Given the description of an element on the screen output the (x, y) to click on. 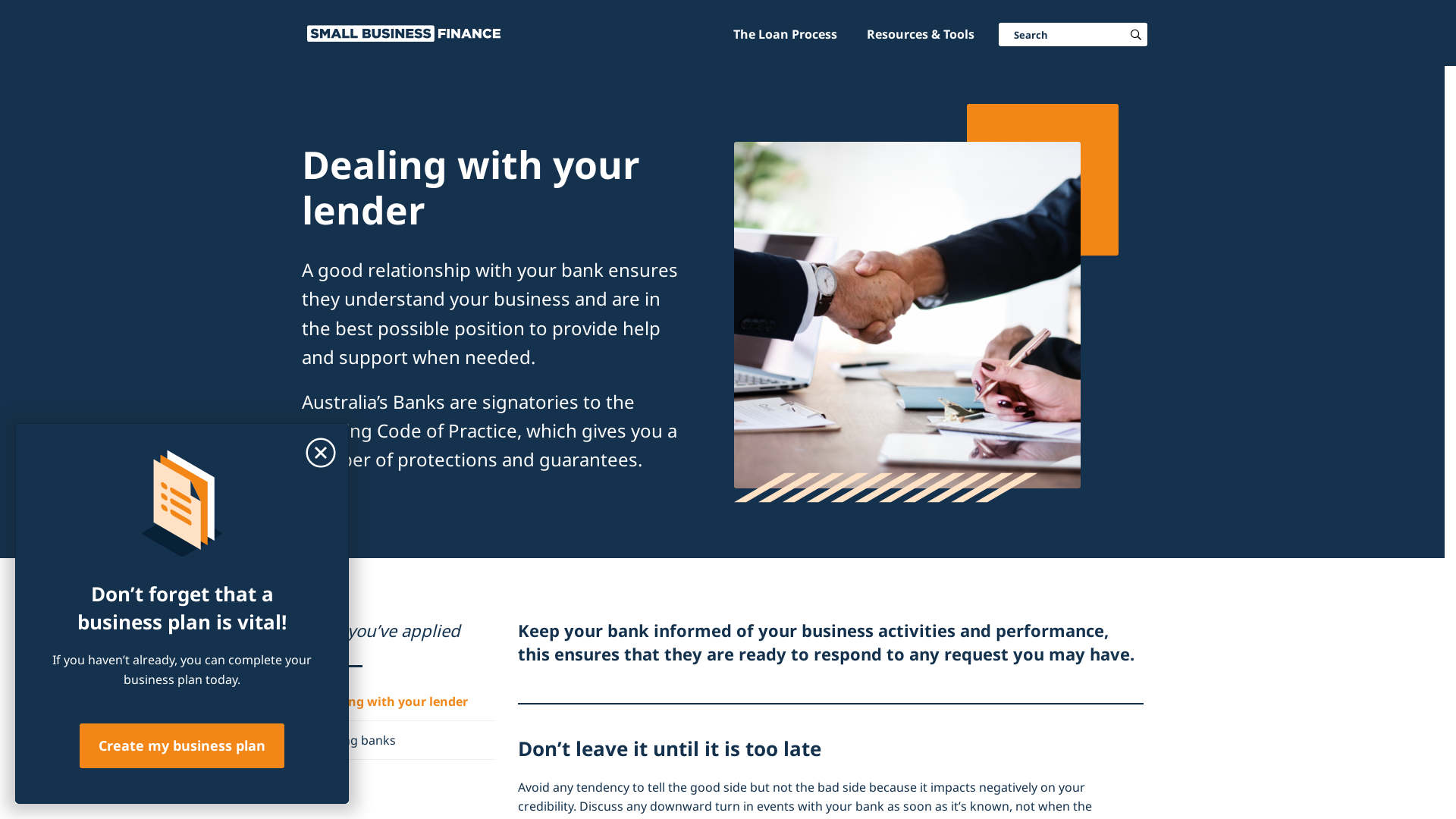
Create my business plan Element type: text (181, 745)
Dealing with your lender Element type: text (384, 701)
Resources & Tools Element type: text (920, 32)
The Loan Process Element type: text (785, 32)
Switching banks Element type: text (348, 740)
